Given the description of an element on the screen output the (x, y) to click on. 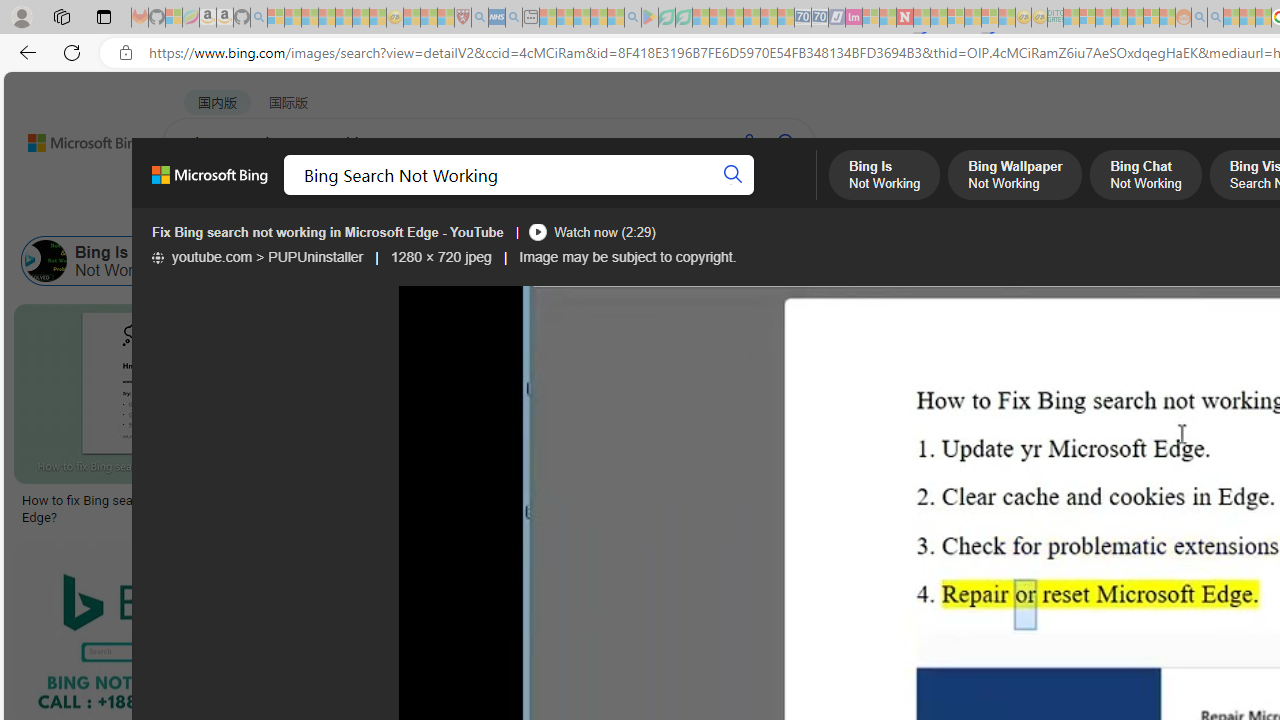
MY BING (276, 195)
Microsoft Bing, Back to Bing search (209, 183)
Why Is My Bing Not Working (1053, 260)
ACADEMIC (635, 195)
Bing Is Not Working (102, 260)
Image may be subject to copyright. (627, 257)
